Given the description of an element on the screen output the (x, y) to click on. 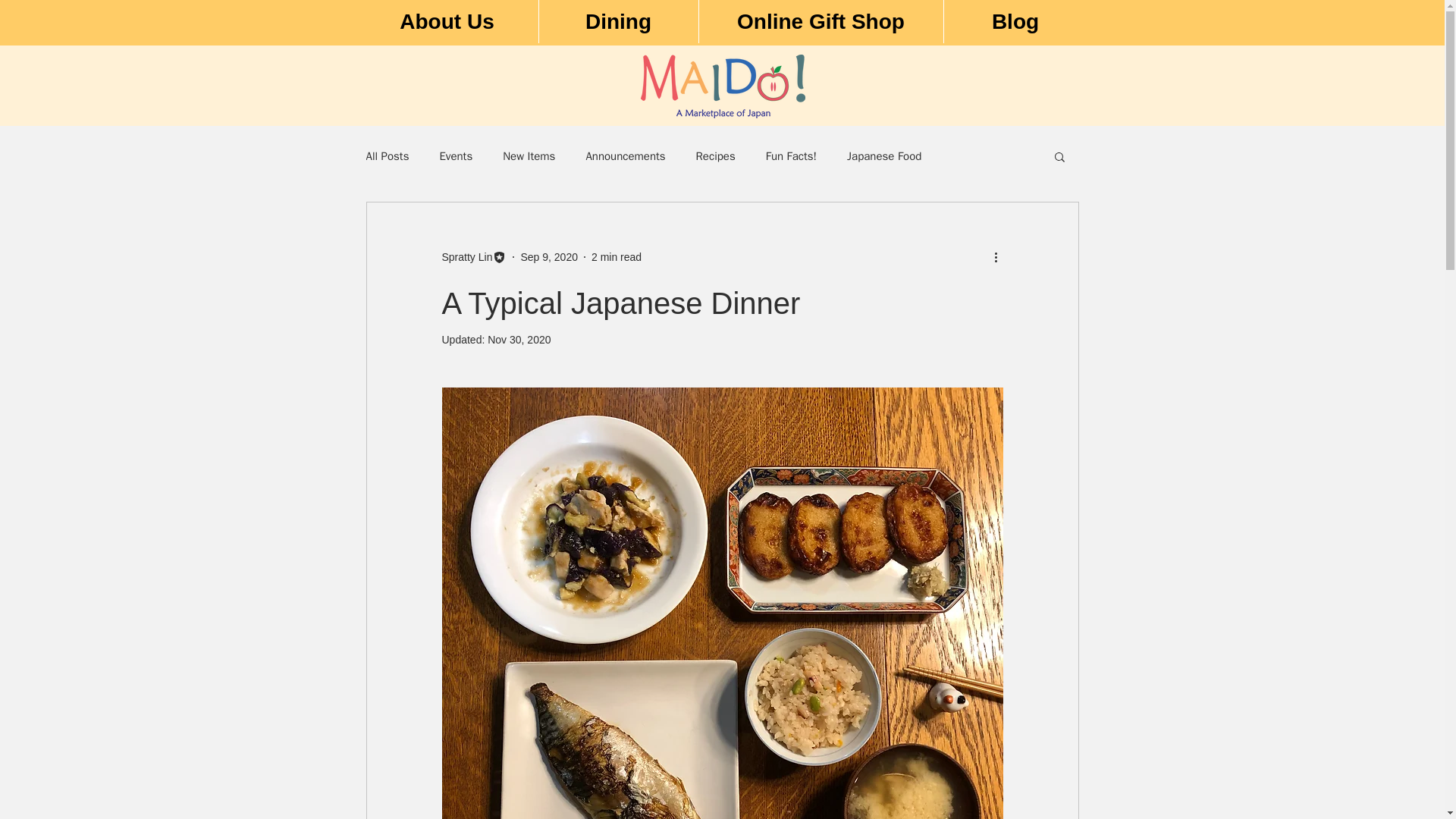
Spratty Lin (473, 256)
Blog (1015, 21)
All Posts (387, 155)
Online Gift Shop (819, 21)
Nov 30, 2020 (518, 339)
Japanese Food (884, 155)
Dining (618, 21)
Fun Facts! (790, 155)
Recipes (715, 155)
Sep 9, 2020 (548, 256)
